Given the description of an element on the screen output the (x, y) to click on. 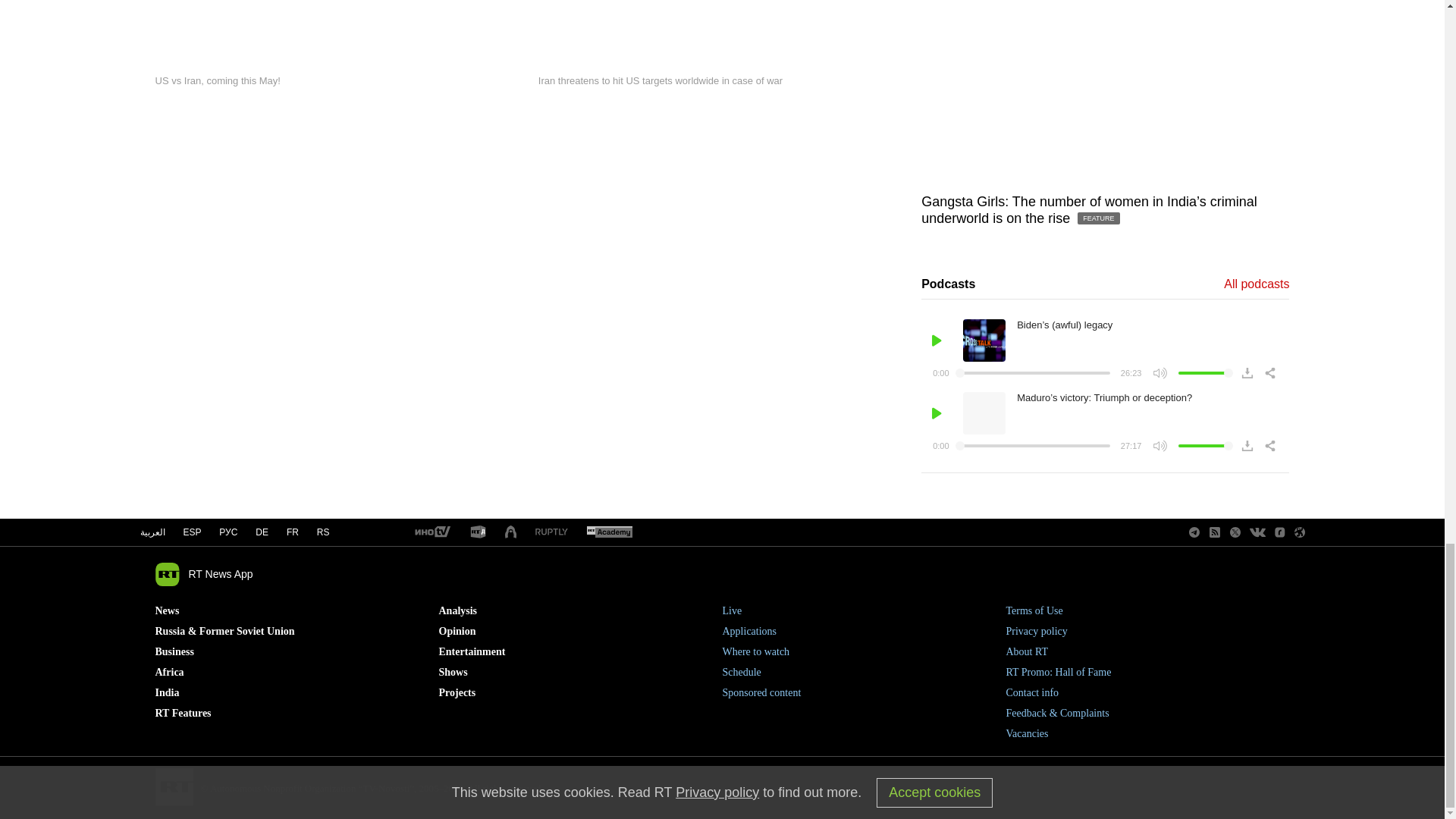
RT  (551, 532)
RT  (608, 532)
RT  (478, 532)
RT  (431, 532)
